Given the description of an element on the screen output the (x, y) to click on. 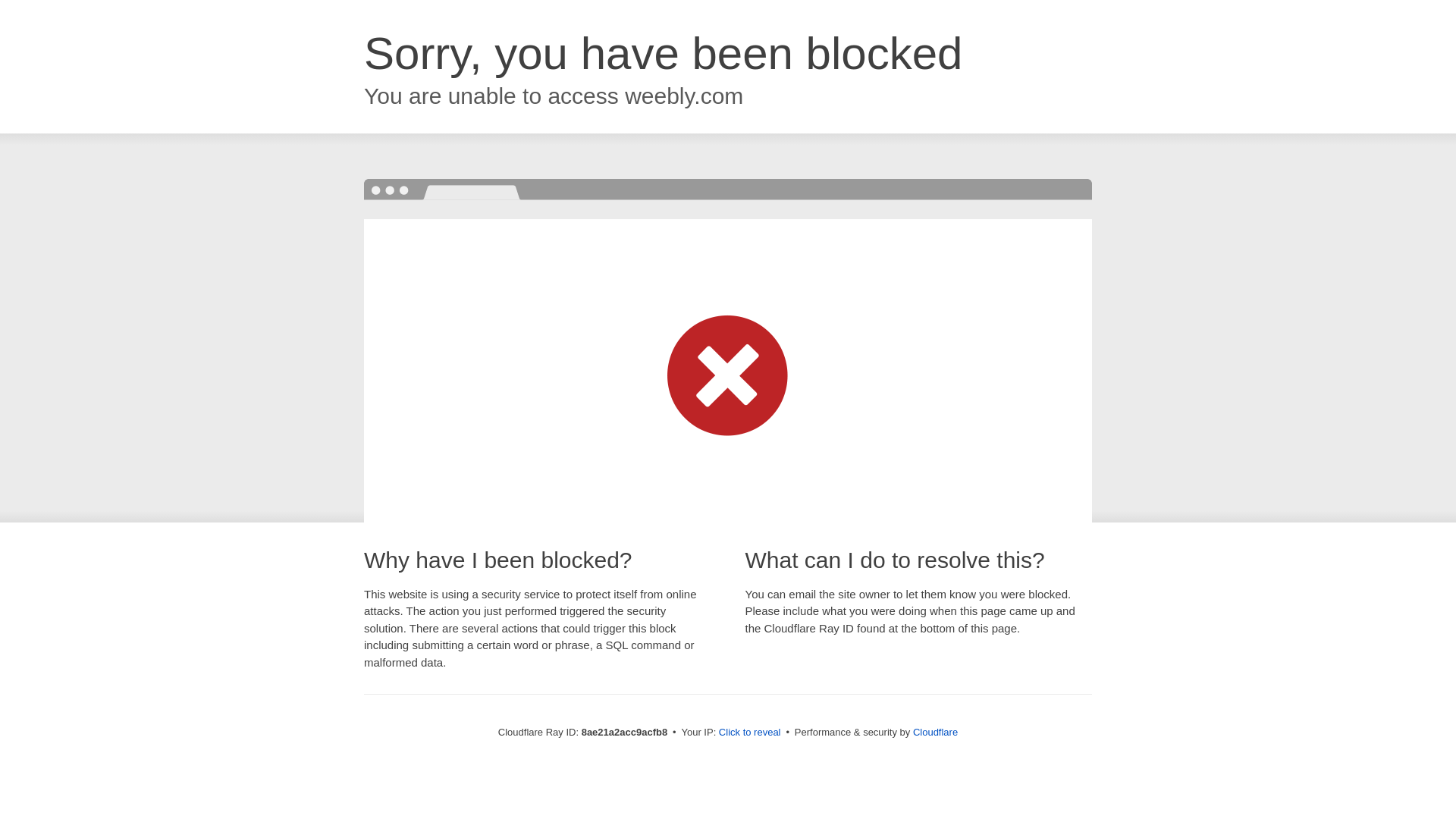
Cloudflare (935, 731)
Click to reveal (749, 732)
